Given the description of an element on the screen output the (x, y) to click on. 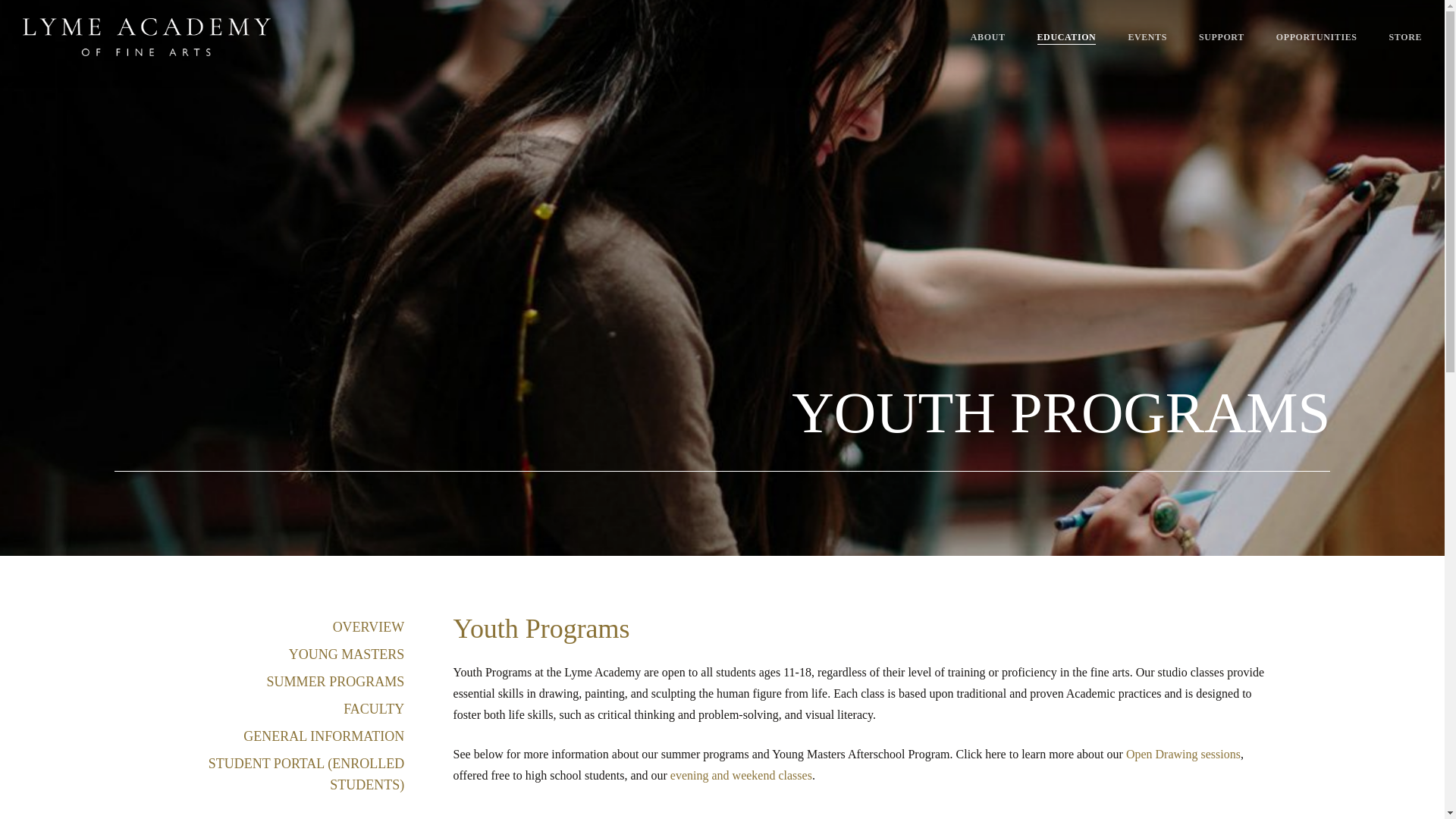
SUPPORT (1221, 37)
OVERVIEW (288, 627)
Open Drawing sessions (1182, 753)
OPPORTUNITIES (1316, 37)
GENERAL INFORMATION (288, 735)
FACULTY (288, 708)
YOUNG MASTERS (288, 654)
ABOUT (988, 37)
evening and weekend classes (740, 775)
EDUCATION (1066, 37)
